Given the description of an element on the screen output the (x, y) to click on. 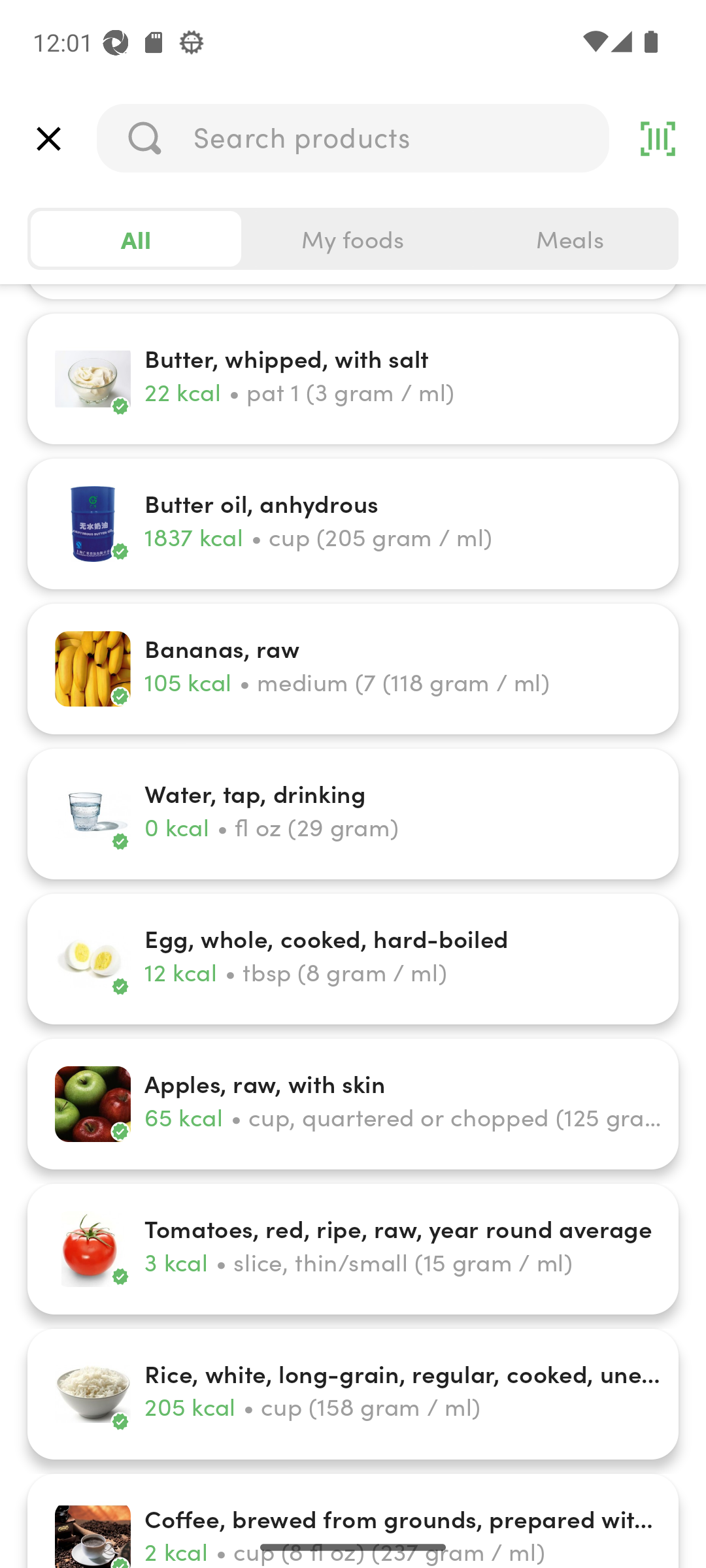
top_left_action (48, 138)
top_right_action (658, 138)
My foods (352, 238)
Meals (569, 238)
Bananas, raw 105 kcal  • medium (7 (118 gram / ml) (352, 668)
Water, tap, drinking 0 kcal  • fl oz (29 gram) (352, 814)
